Given the description of an element on the screen output the (x, y) to click on. 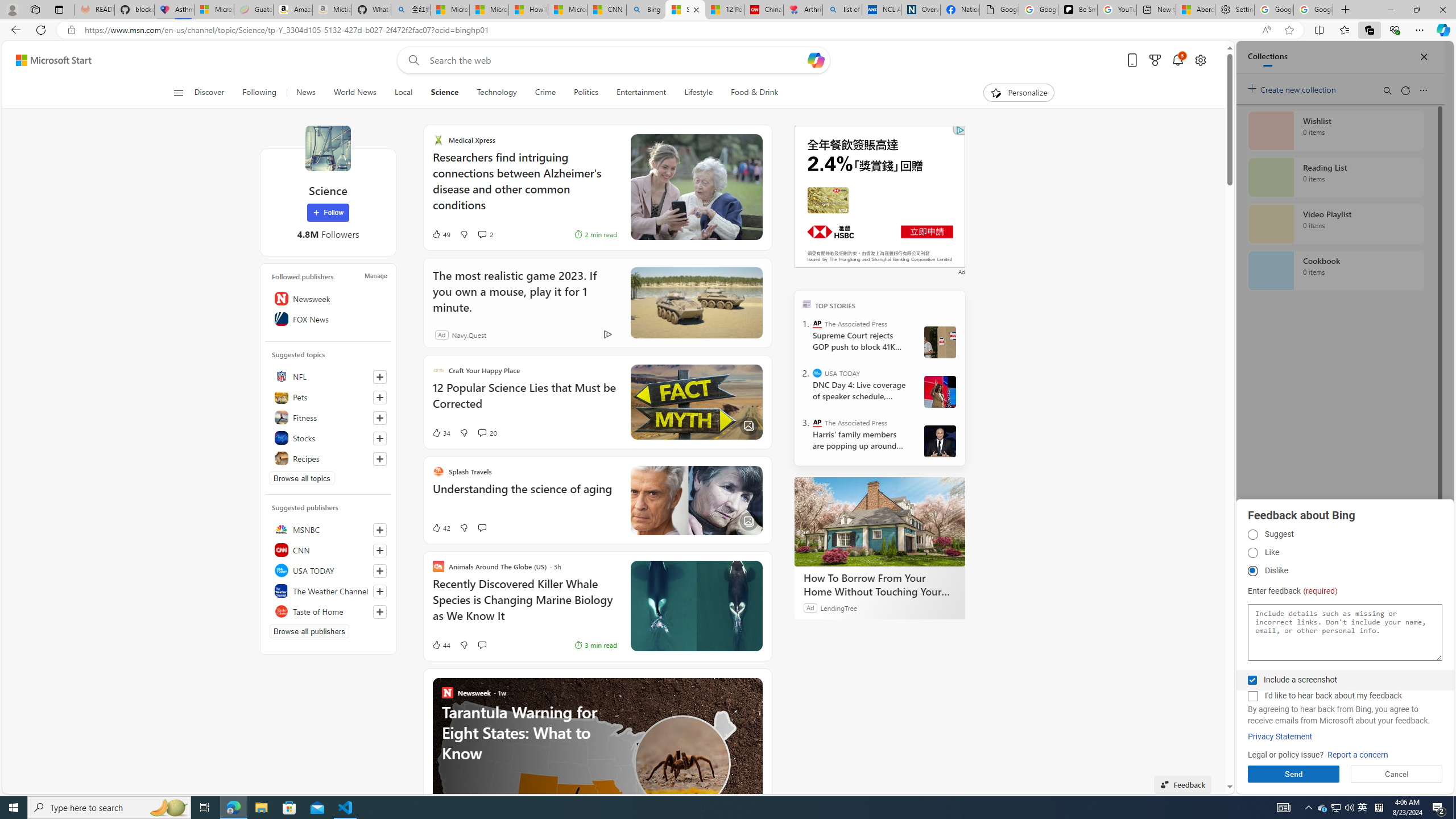
list of asthma inhalers uk - Search (842, 9)
Google Analytics Opt-out Browser Add-on Download Page (999, 9)
